Given the description of an element on the screen output the (x, y) to click on. 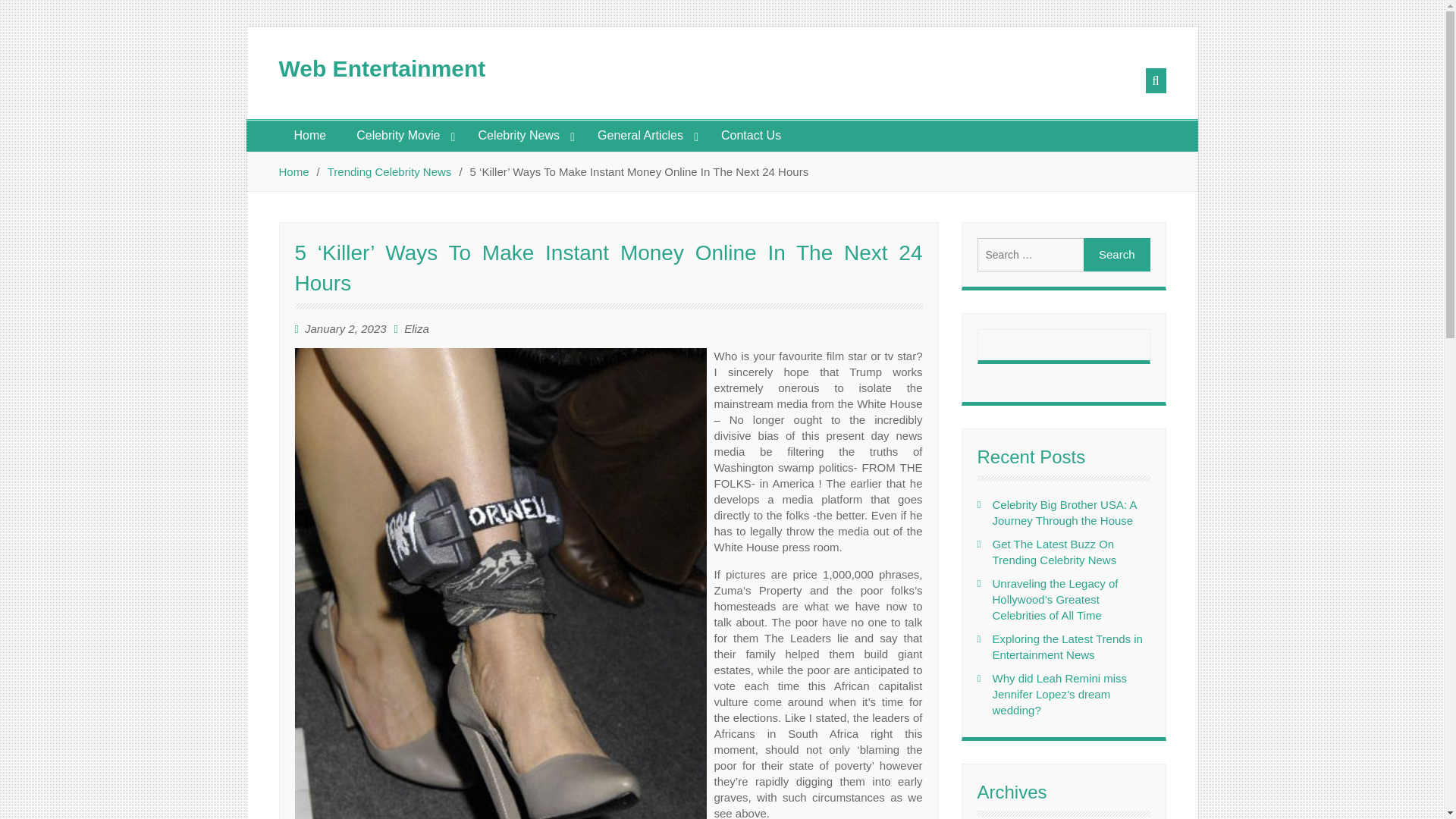
Contact Us (751, 135)
Search (1116, 254)
General Articles (644, 135)
Home (293, 171)
Celebrity News (522, 135)
Search (1116, 254)
Home (310, 135)
Celebrity Movie (401, 135)
Web Entertainment (382, 68)
